Given the description of an element on the screen output the (x, y) to click on. 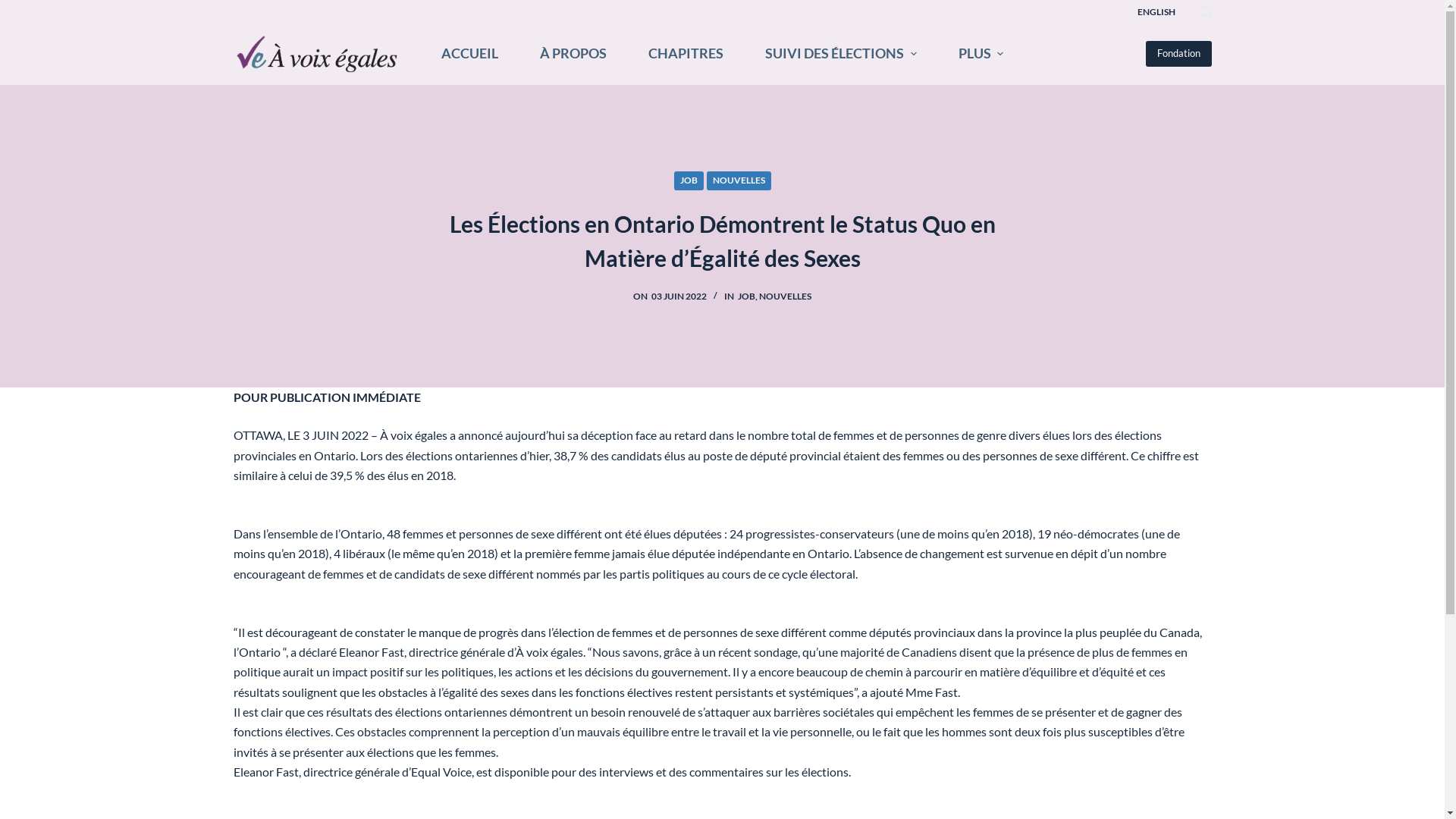
JOB Element type: text (687, 180)
Fondation Element type: text (1178, 53)
NOUVELLES Element type: text (738, 180)
ACCUEIL Element type: text (469, 53)
Skip to content Element type: text (15, 7)
CHAPITRES Element type: text (685, 53)
PLUS Element type: text (980, 53)
ENGLISH Element type: text (1156, 11)
JOB Element type: text (746, 295)
NOUVELLES Element type: text (785, 295)
